Given the description of an element on the screen output the (x, y) to click on. 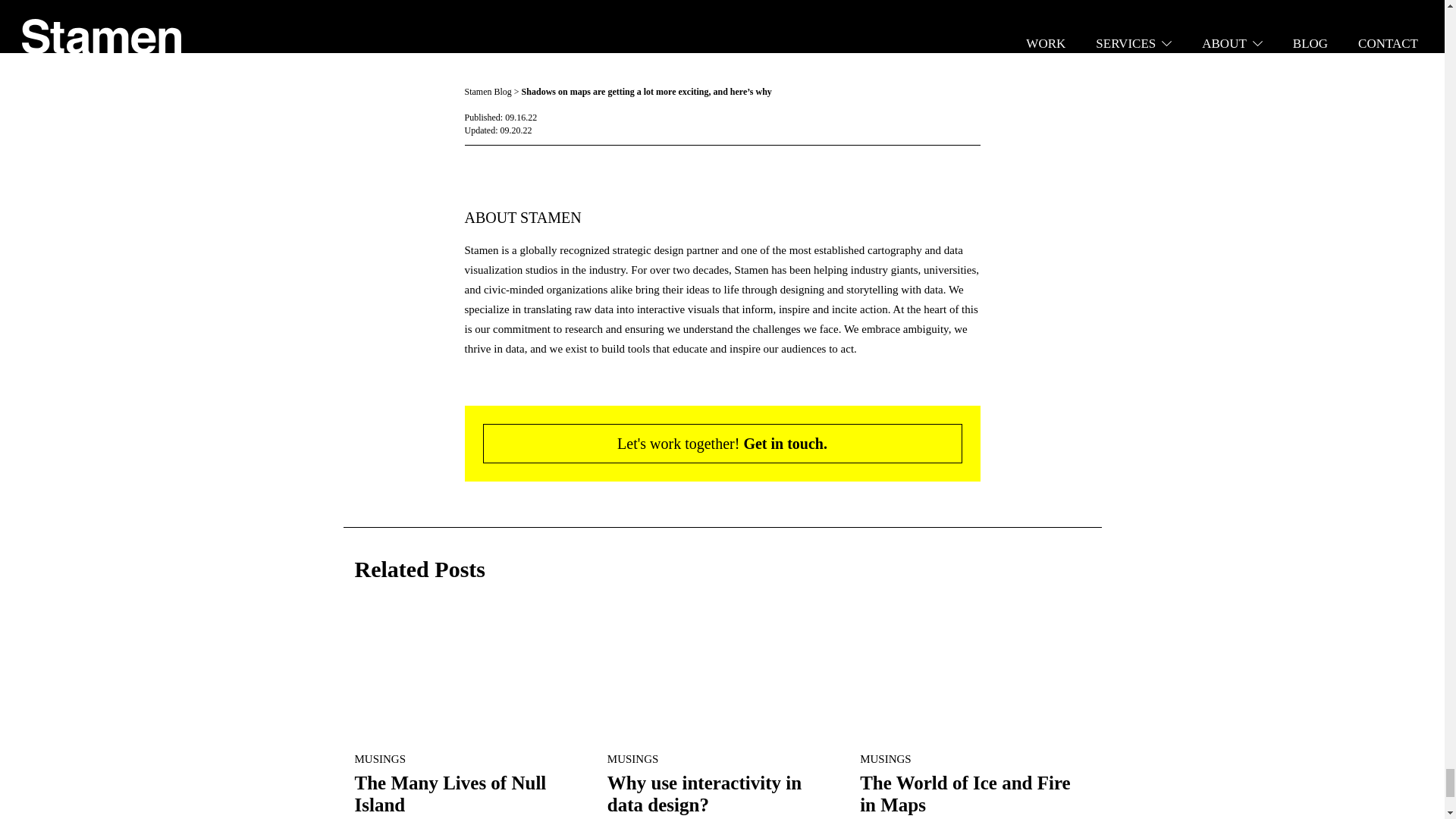
Why use interactivity in data design? (704, 793)
Why use interactivity in data design? (722, 676)
The World of Ice and Fire in Maps (974, 676)
The Many Lives of Null Island (451, 793)
The Many Lives of Null Island (470, 676)
The World of Ice and Fire in Maps (965, 793)
